Given the description of an element on the screen output the (x, y) to click on. 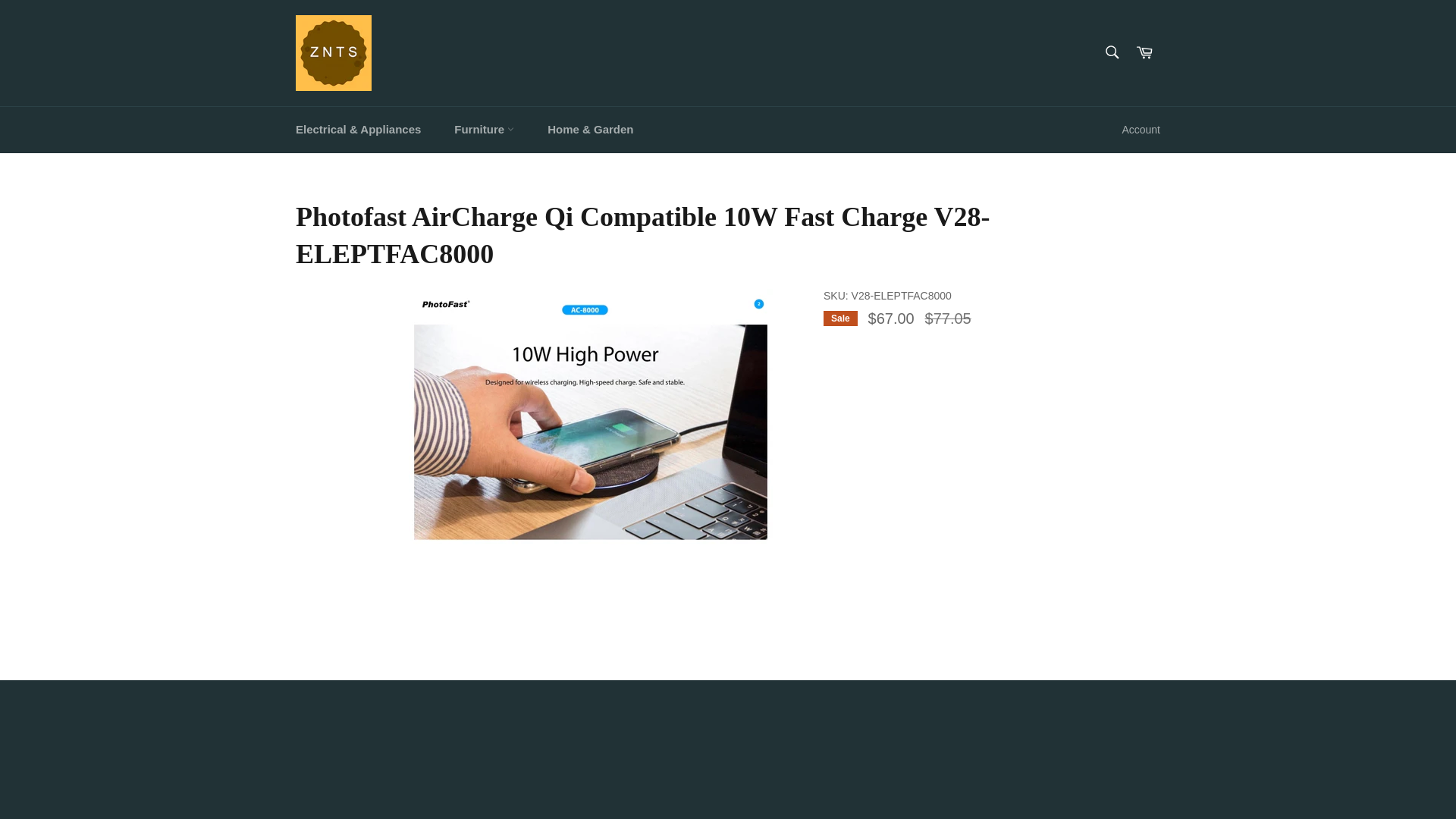
Account (1140, 129)
Furniture (484, 130)
Cart (1144, 53)
Search (1111, 51)
